Given the description of an element on the screen output the (x, y) to click on. 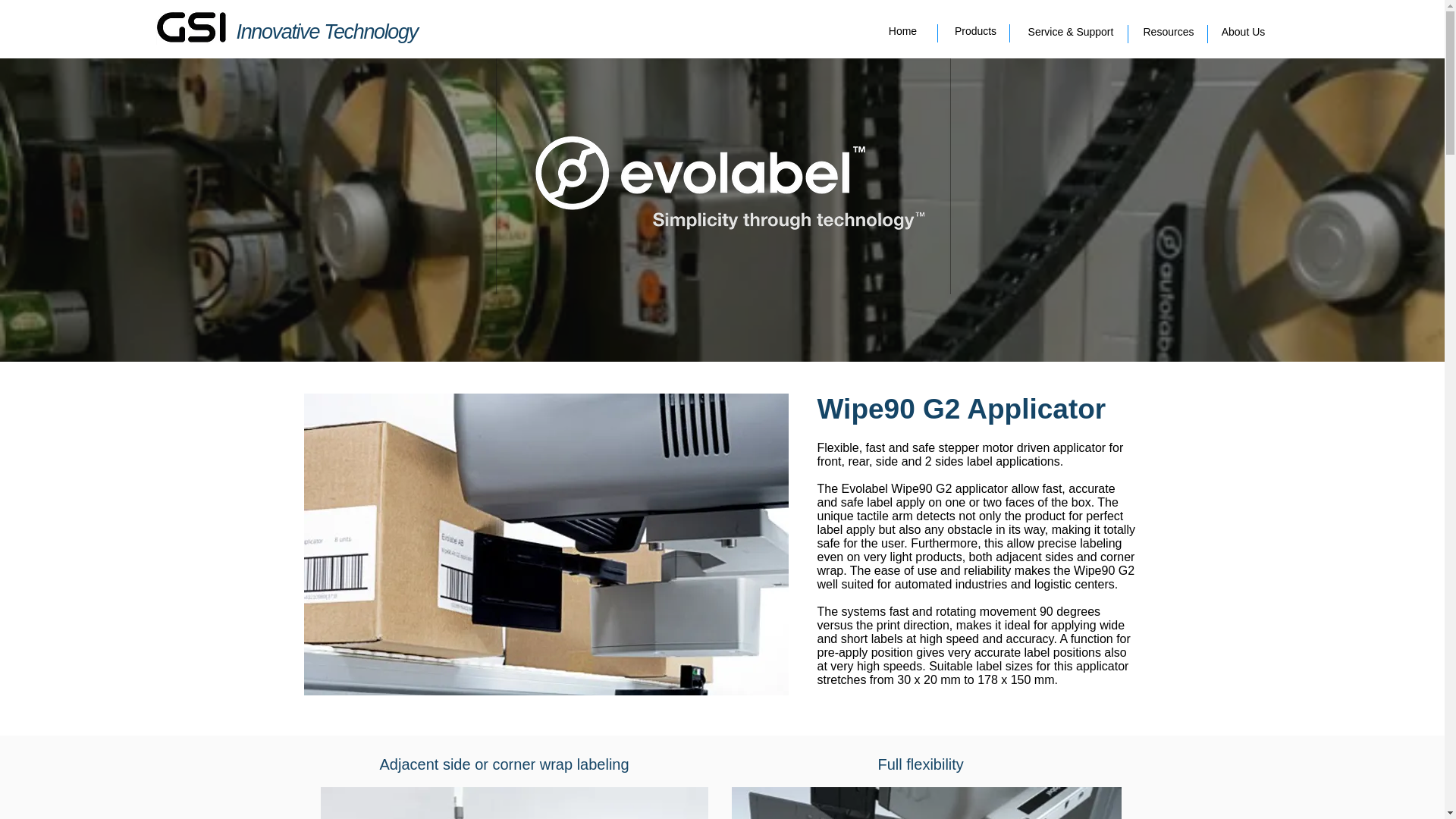
About Us (1243, 32)
Products (974, 31)
Home (902, 31)
